Given the description of an element on the screen output the (x, y) to click on. 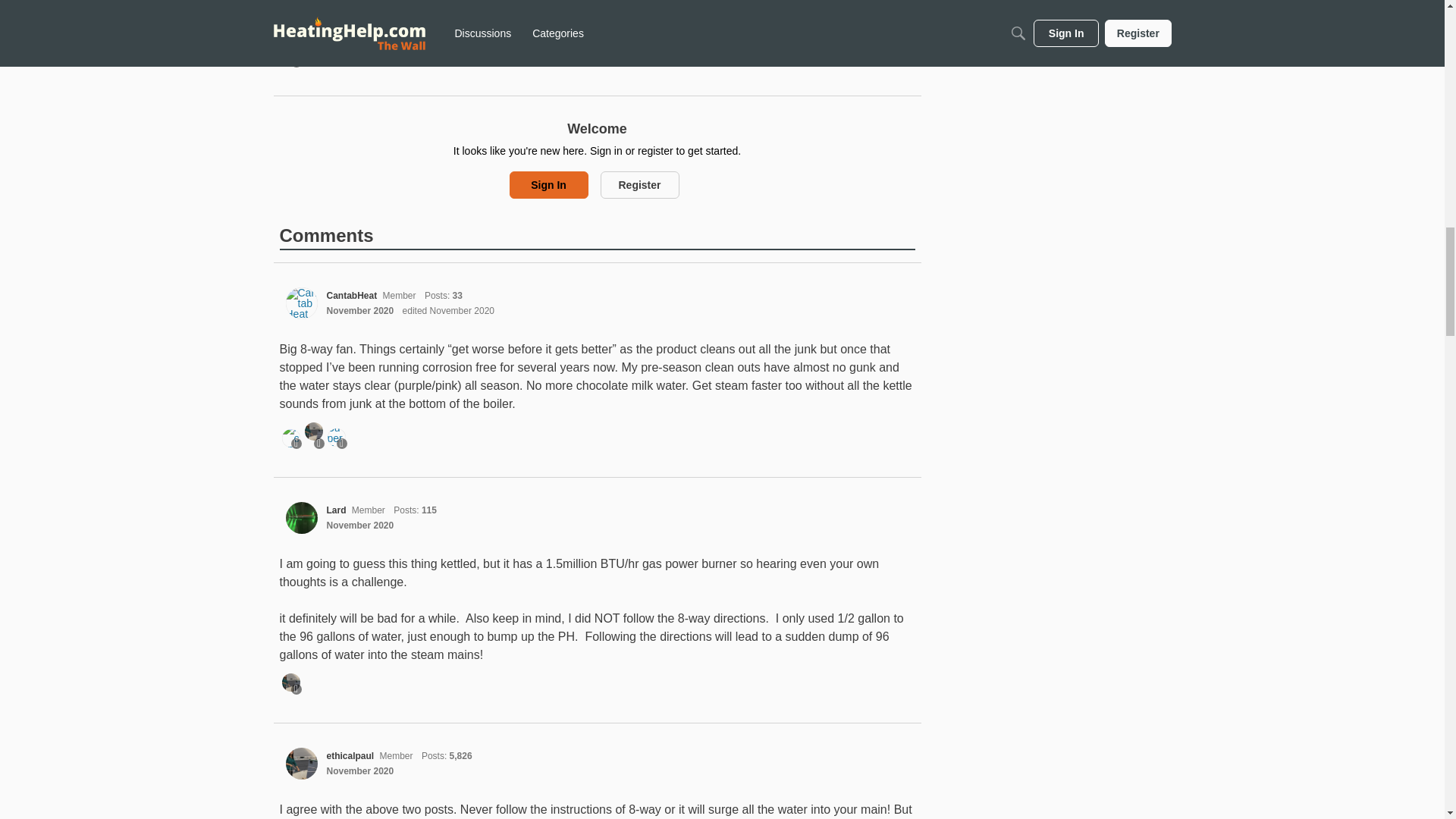
November 2020 (359, 310)
CantabHeat (351, 295)
kcopp - Insightful on November 8, 2020 3:44PM (290, 438)
November 2020 (359, 770)
ethicalpaul - Agree on November 8, 2020 4:48PM (290, 682)
November 2020 (359, 525)
Edited November 8, 2020 3:04PM by CantabHeat. (449, 310)
CantabHeat (301, 303)
Sign In (548, 185)
Sign In (548, 185)
